Given the description of an element on the screen output the (x, y) to click on. 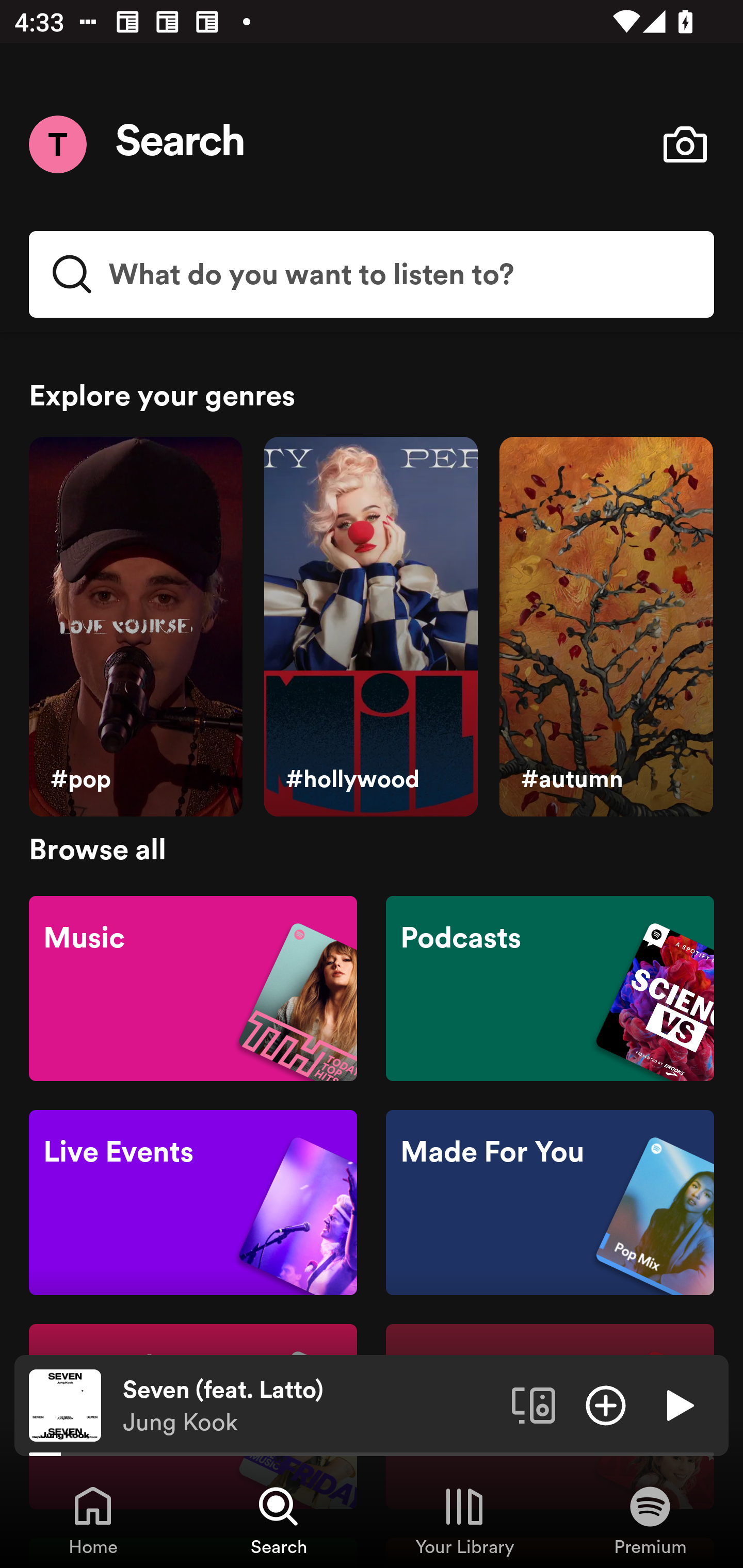
Menu (57, 144)
Open camera (685, 145)
Search (180, 144)
#pop (135, 626)
#hollywood (370, 626)
#autumn (606, 626)
Music (192, 987)
Podcasts (549, 987)
Live Events (192, 1202)
Made For You (549, 1202)
Seven (feat. Latto) Jung Kook (309, 1405)
The cover art of the currently playing track (64, 1404)
Connect to a device. Opens the devices menu (533, 1404)
Add item (605, 1404)
Play (677, 1404)
Home, Tab 1 of 4 Home Home (92, 1519)
Search, Tab 2 of 4 Search Search (278, 1519)
Your Library, Tab 3 of 4 Your Library Your Library (464, 1519)
Premium, Tab 4 of 4 Premium Premium (650, 1519)
